Given the description of an element on the screen output the (x, y) to click on. 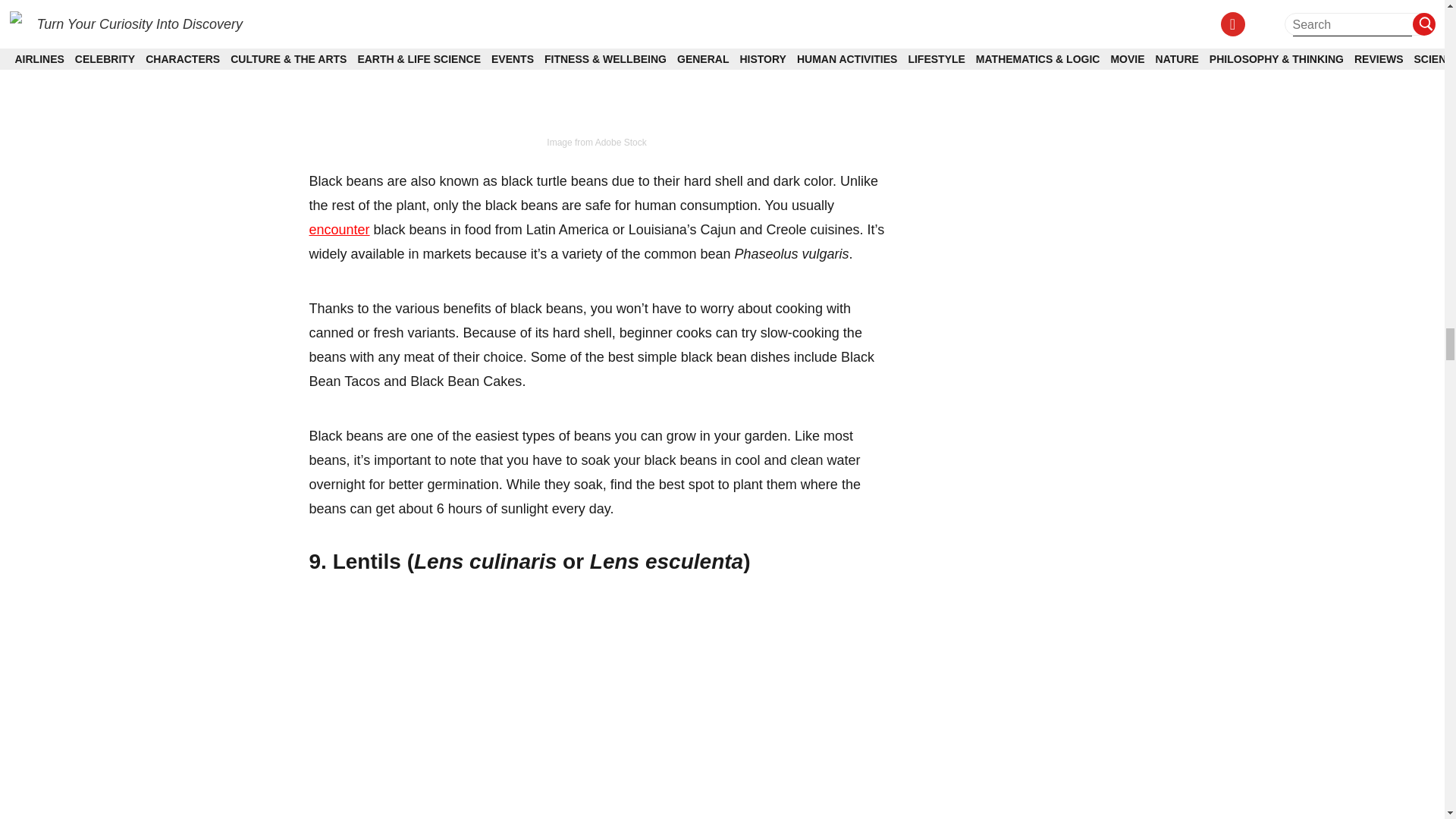
encounter (338, 229)
